Given the description of an element on the screen output the (x, y) to click on. 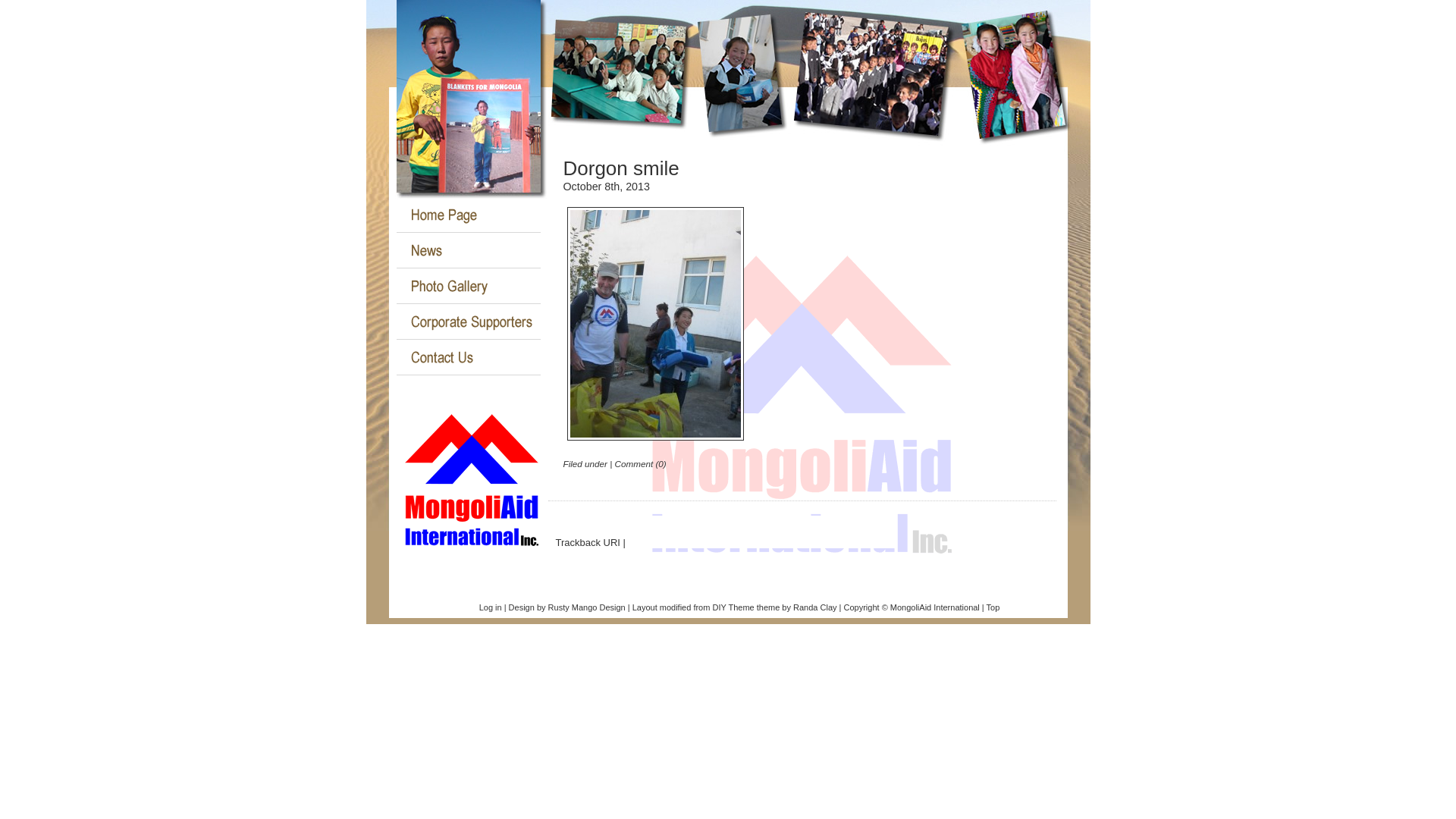
DIY Theme Element type: text (732, 606)
Comment (0) Element type: text (640, 463)
Rusty Mango Design Element type: text (586, 606)
Top Element type: text (993, 606)
Log in Element type: text (490, 606)
Dorgon smile Element type: text (620, 167)
Randa Clay Element type: text (814, 606)
Trackback URI Element type: text (587, 542)
